Given the description of an element on the screen output the (x, y) to click on. 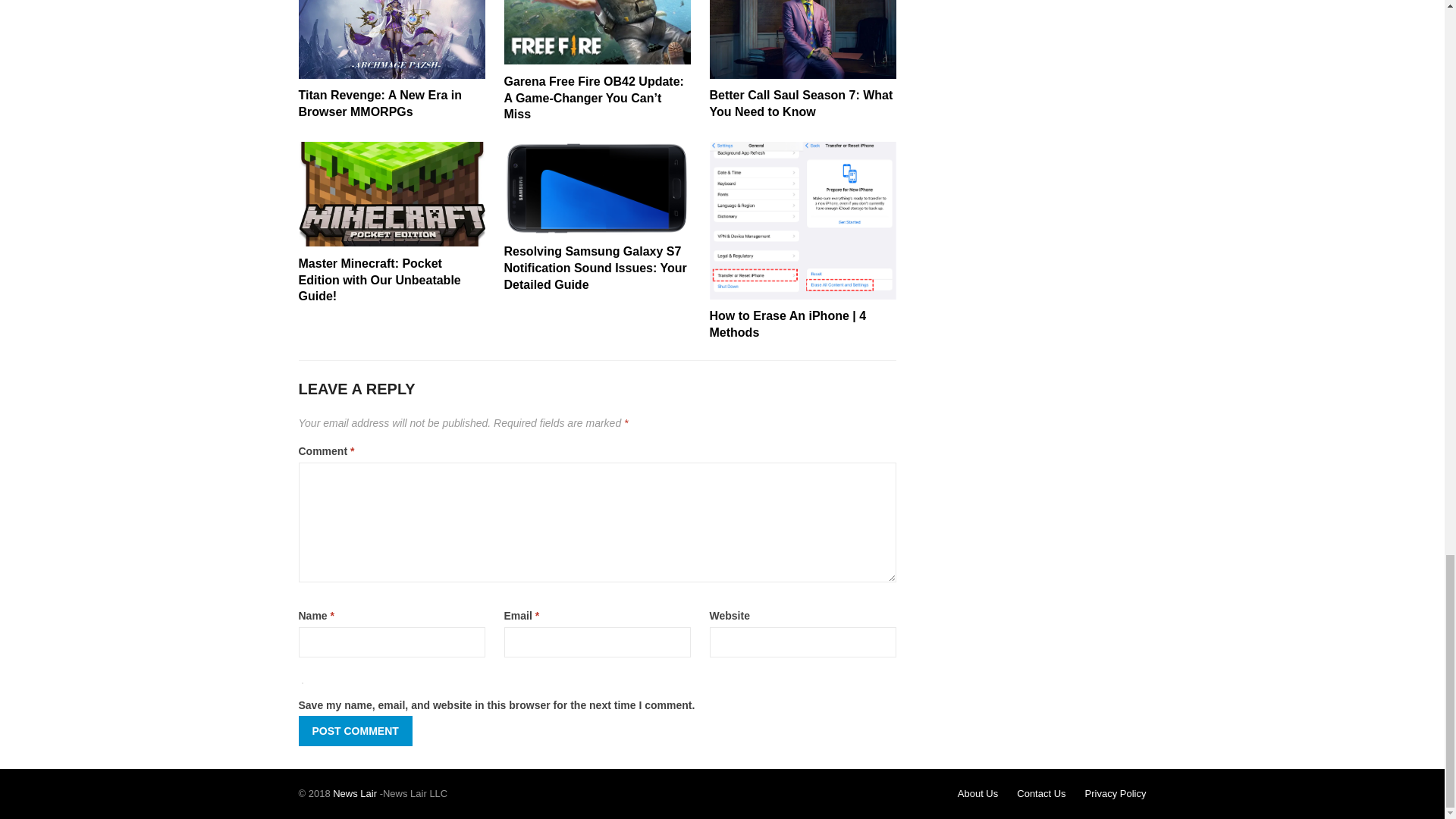
Post Comment (355, 730)
